Given the description of an element on the screen output the (x, y) to click on. 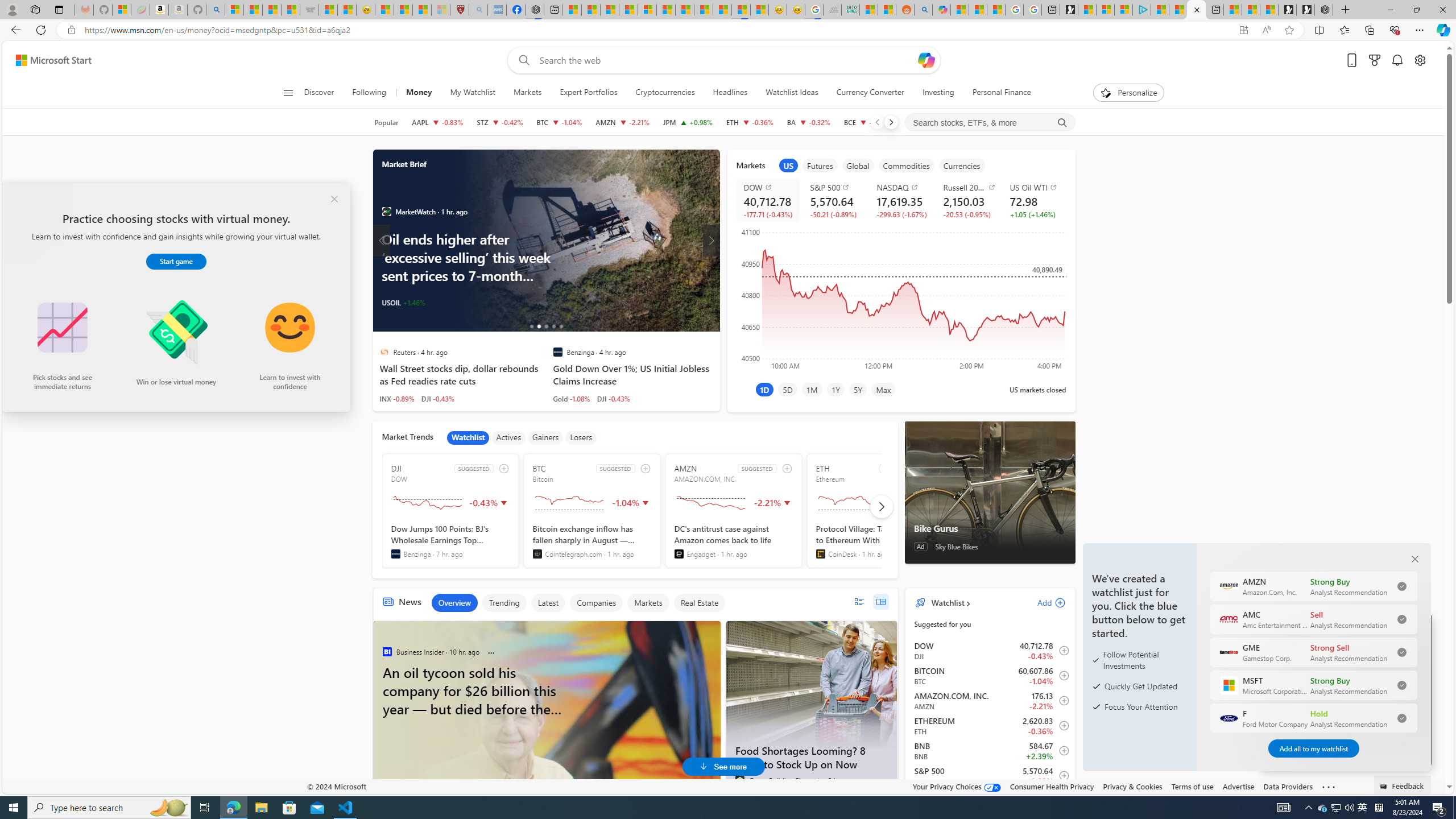
Microsoft Copilot in Bing (941, 9)
Investing (937, 92)
